Given the description of an element on the screen output the (x, y) to click on. 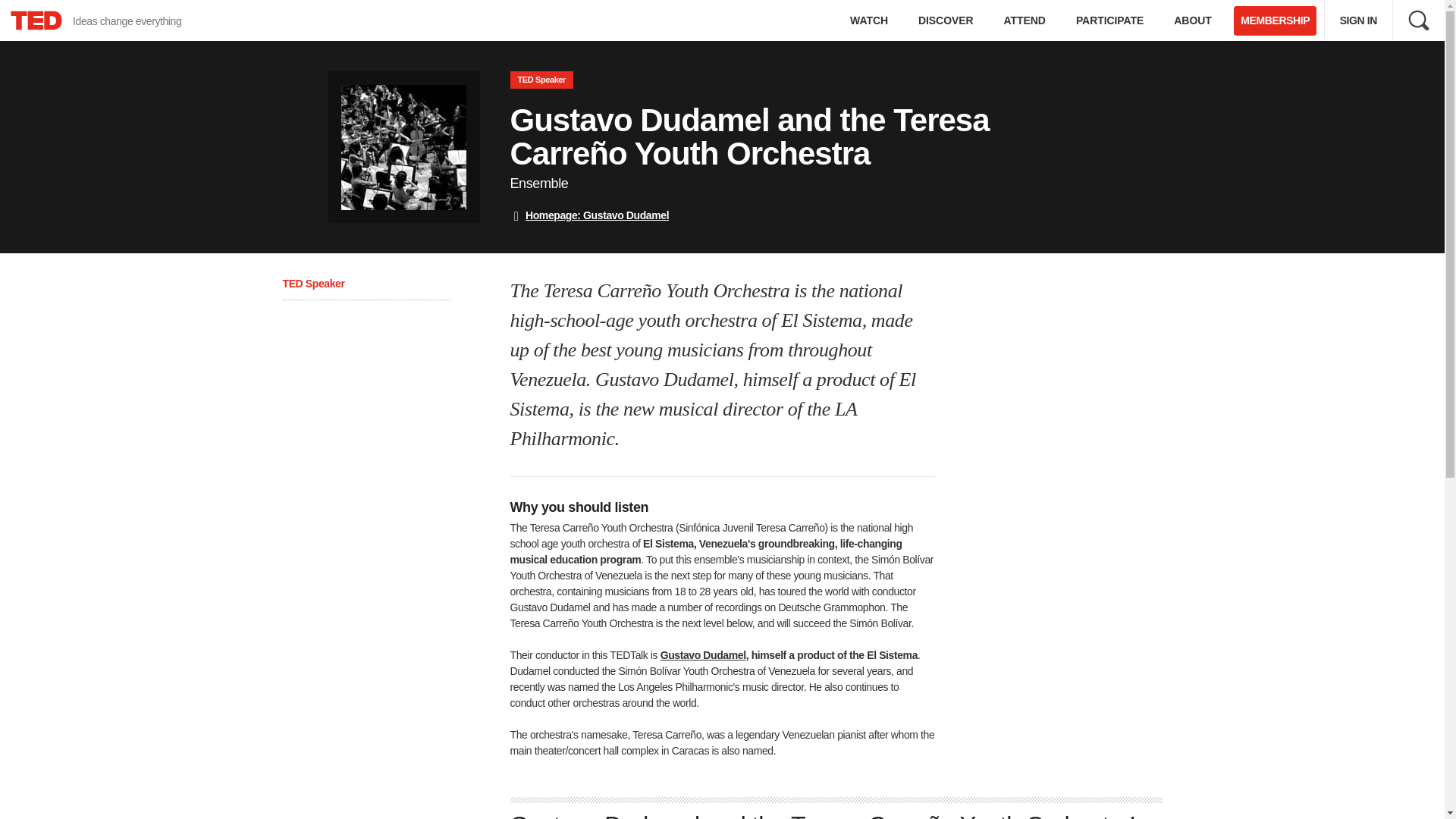
ABOUT (1191, 20)
TED Speaker (312, 283)
MEMBERSHIP (1274, 20)
TED (36, 20)
WATCH (868, 20)
SIGN IN (1357, 20)
TED Speaker (540, 79)
DISCOVER (96, 20)
Homepage: Gustavo Dudamel (945, 20)
ATTEND (588, 215)
Search (1024, 20)
PARTICIPATE (1418, 20)
